Given the description of an element on the screen output the (x, y) to click on. 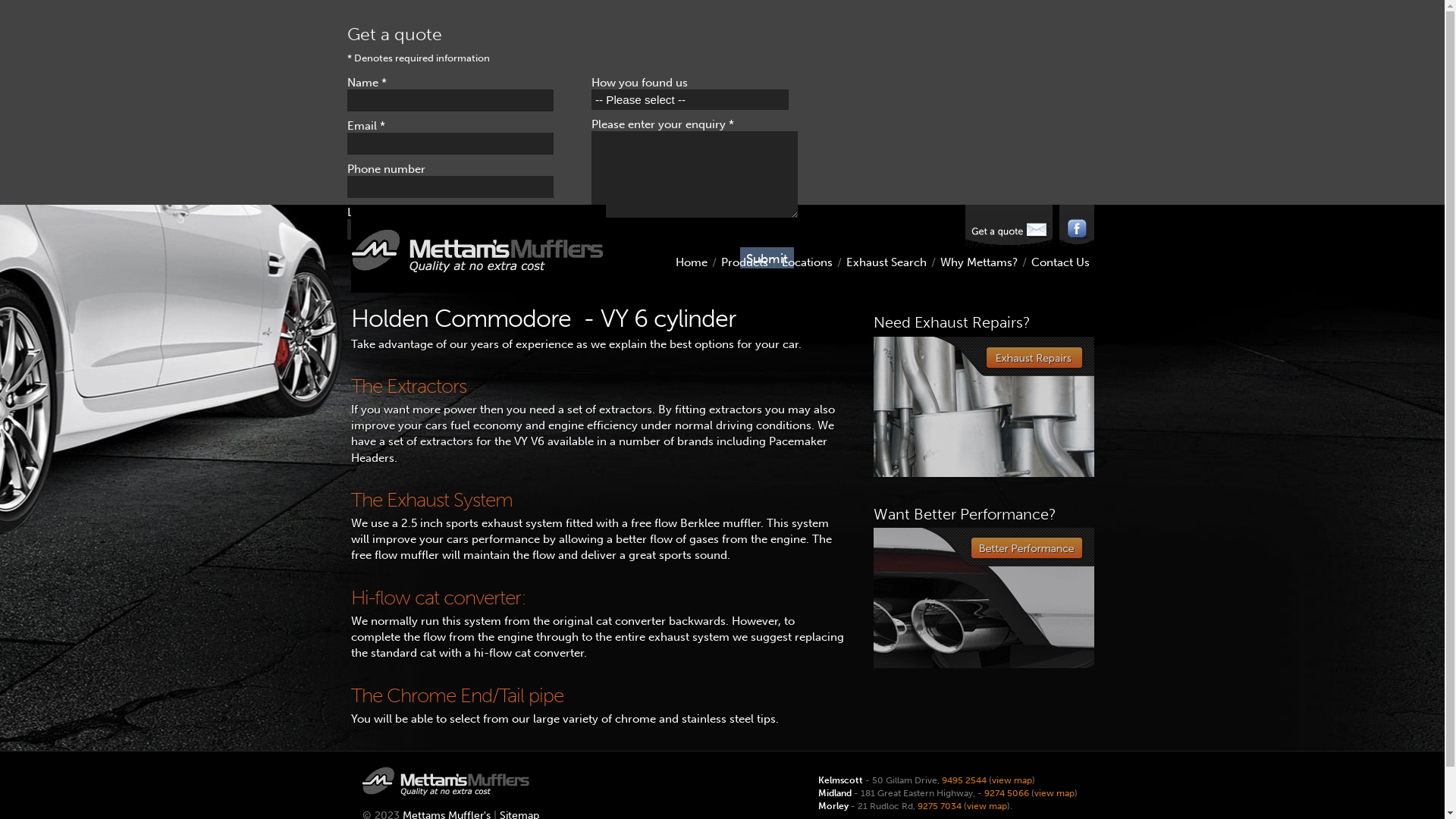
Please enter your enquiry * Element type: hover (694, 174)
9495 2544 Element type: text (963, 779)
view map Element type: text (1054, 792)
Name * Element type: hover (450, 100)
Why Mettams? Element type: text (978, 262)
Email * Element type: hover (450, 143)
Phone number Element type: hover (450, 186)
Submit Element type: hover (766, 257)
view map Element type: text (1011, 779)
9275 7034 Element type: text (939, 805)
Mettam's Mufflers - Quality at no extra cost Element type: hover (445, 780)
Exhaust Search Element type: text (886, 262)
Facebook Element type: text (1075, 224)
Products Element type: text (743, 262)
9274 5066 Element type: text (1006, 792)
Need Exhaust Repairs? Element type: text (983, 406)
Contact Us Element type: text (1060, 262)
Mettam's Mufflers - Quality at no extra cost Element type: text (477, 248)
view map Element type: text (986, 805)
Book Now Element type: text (1007, 225)
Home Element type: text (690, 262)
Locations Element type: text (806, 262)
Want Better Performance? Element type: text (983, 597)
Submit Element type: text (766, 257)
